Given the description of an element on the screen output the (x, y) to click on. 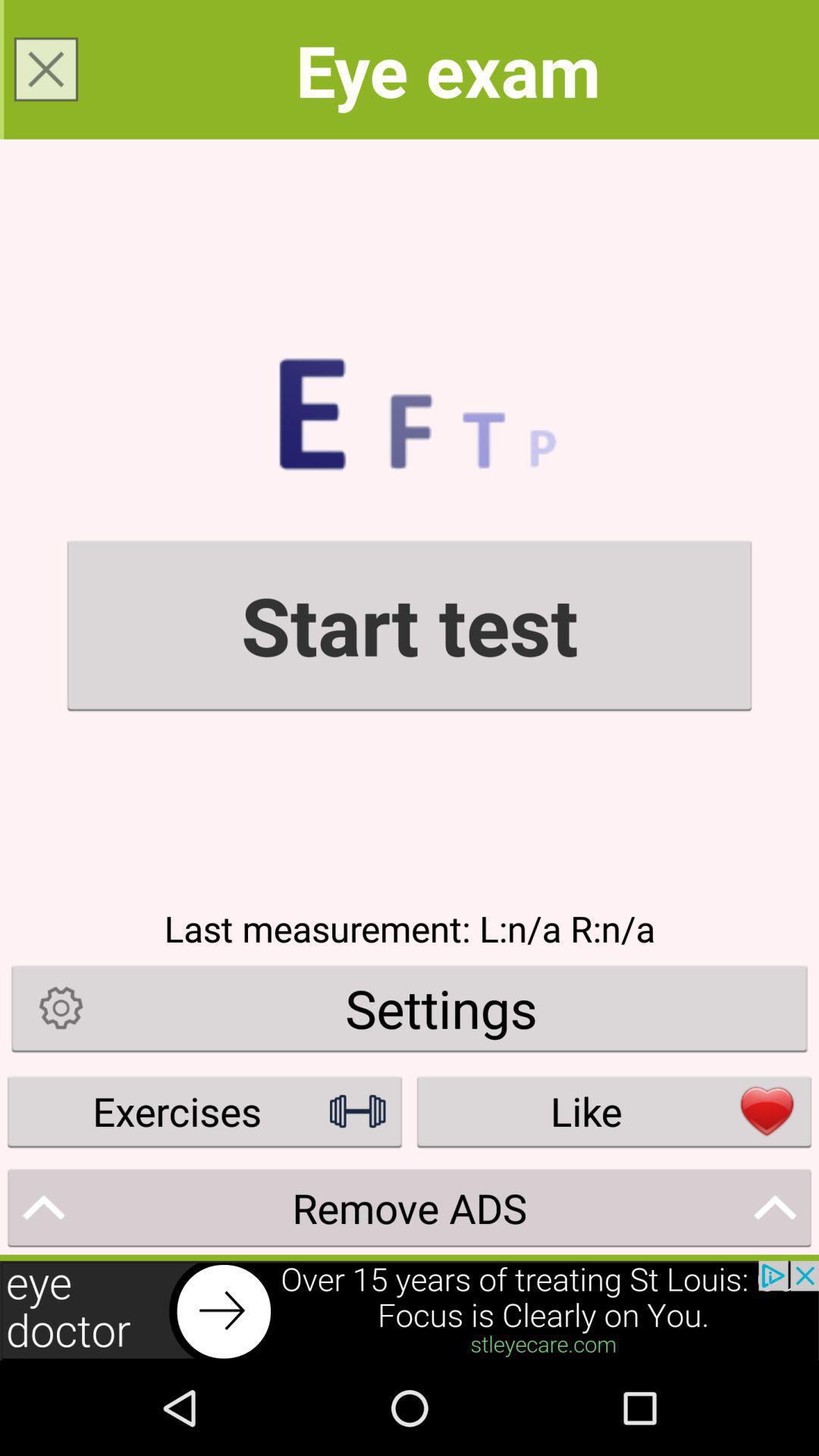
information about eye doctor (409, 1310)
